Given the description of an element on the screen output the (x, y) to click on. 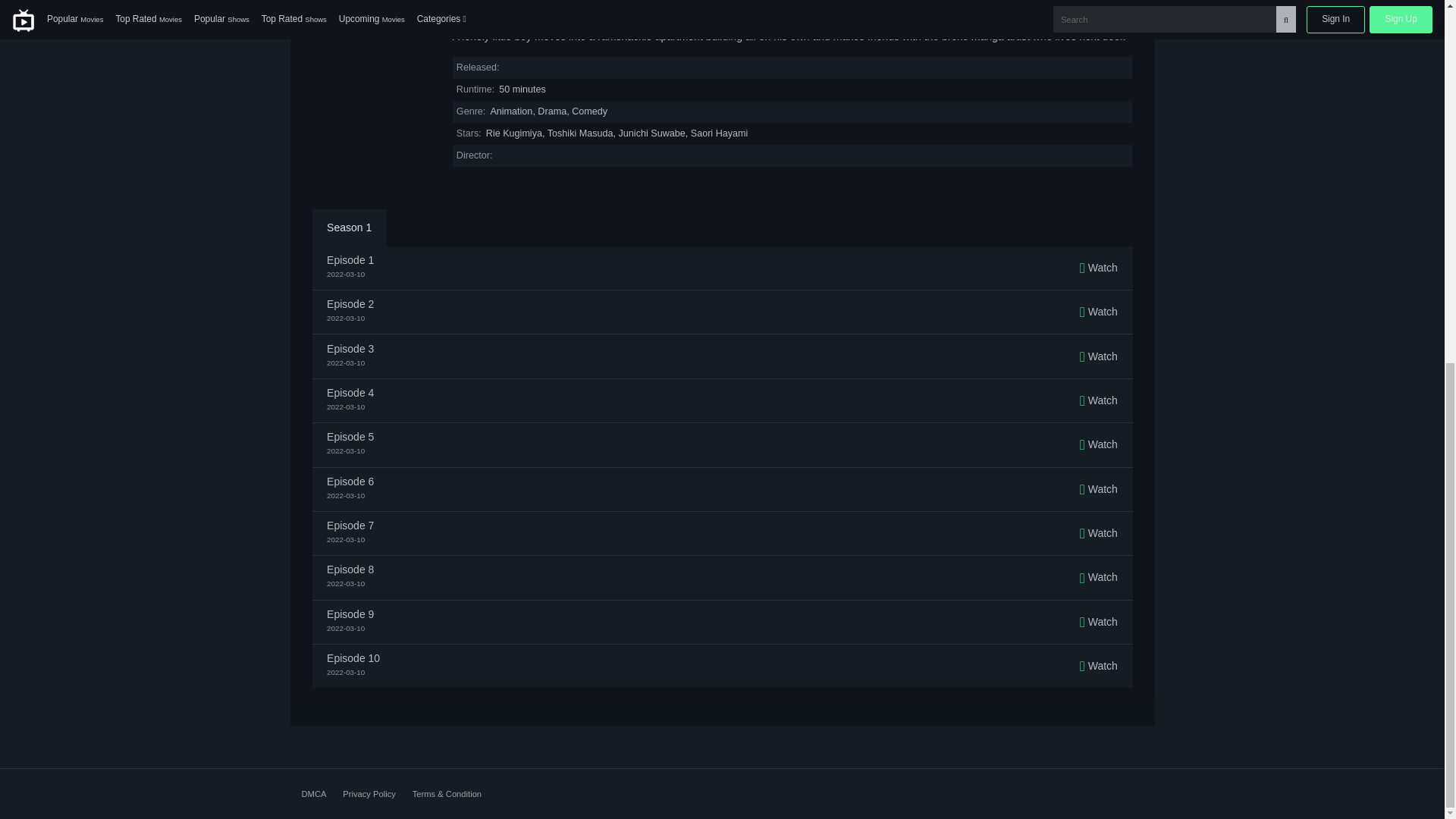
Episode 9 (350, 614)
Episode 3 (350, 348)
Episode 6 (350, 480)
Episode 2 (350, 303)
Episode 4 (350, 392)
Episode 5 (350, 436)
Episode 8 (350, 569)
Episode 1 (350, 259)
Episode 7 (350, 525)
Episode 10 (353, 657)
